Given the description of an element on the screen output the (x, y) to click on. 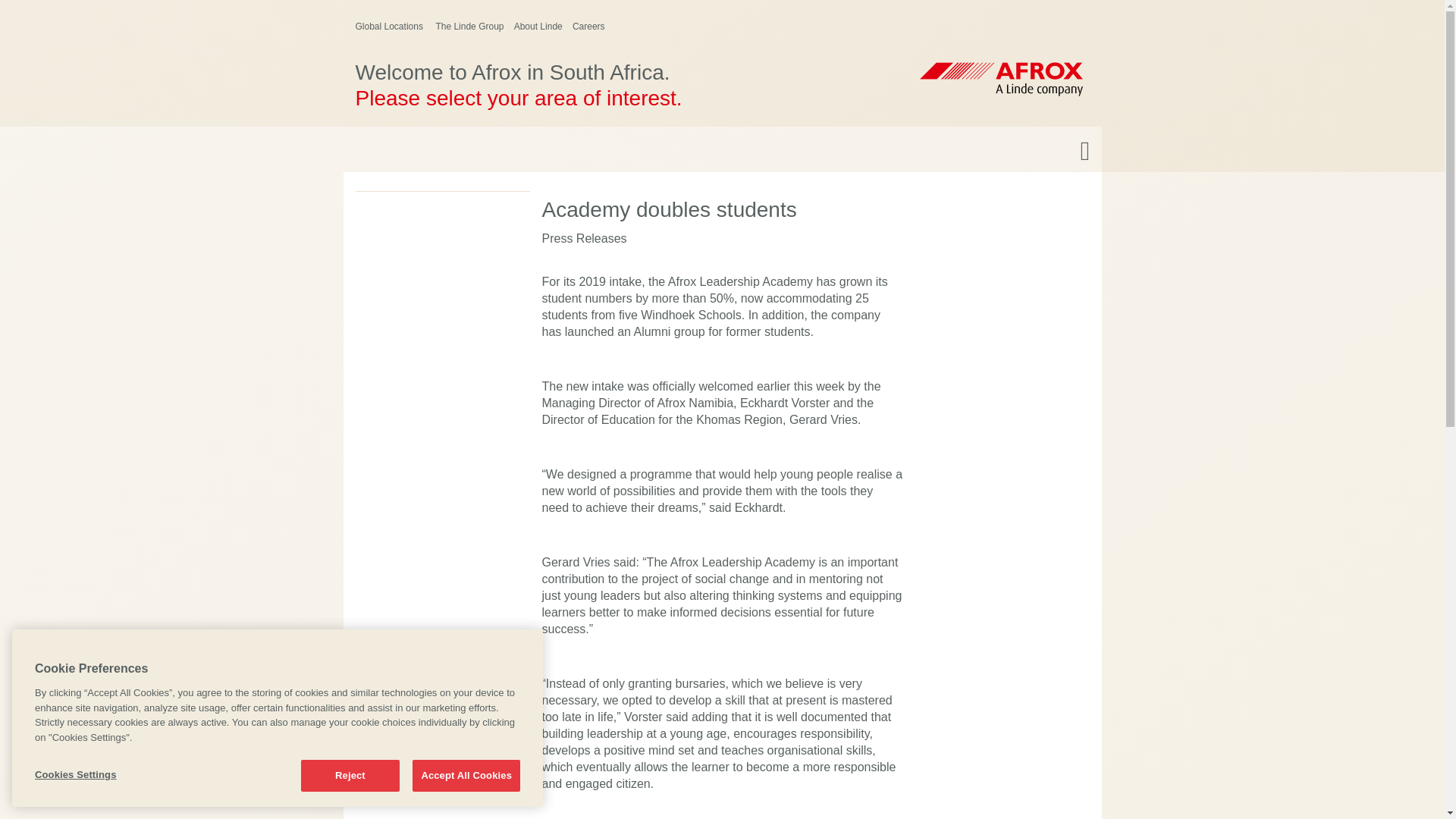
Accept All Cookies (465, 775)
About Linde (537, 26)
The Linde Group (469, 26)
Global Locations  (390, 26)
Reject (349, 775)
Cookies Settings (100, 775)
Careers (588, 26)
